Given the description of an element on the screen output the (x, y) to click on. 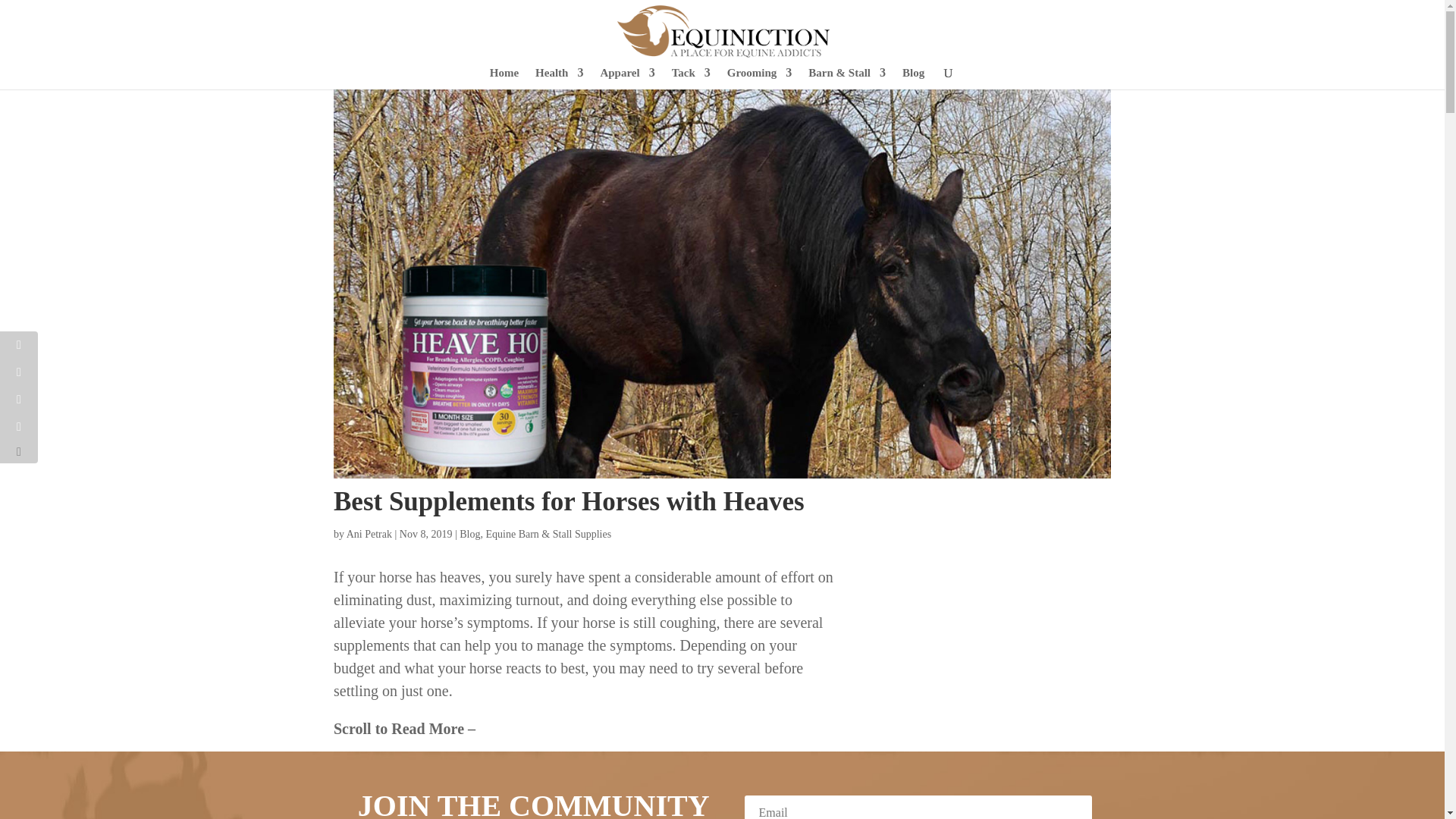
Home (503, 78)
Tack (690, 78)
Apparel (626, 78)
Health (559, 78)
Blog (913, 78)
Posts by Ani Petrak (368, 532)
Grooming (759, 78)
Ani Petrak (368, 532)
